Given the description of an element on the screen output the (x, y) to click on. 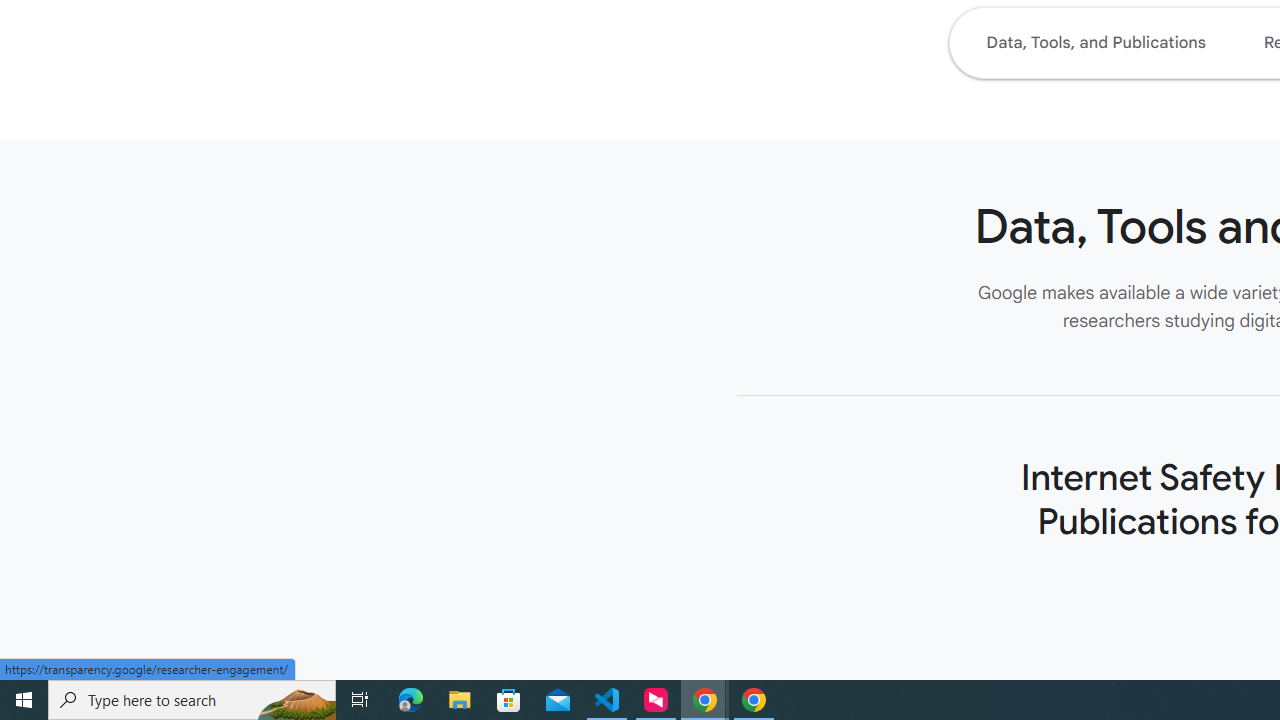
Data, Tools, and Publications (1095, 42)
